Given the description of an element on the screen output the (x, y) to click on. 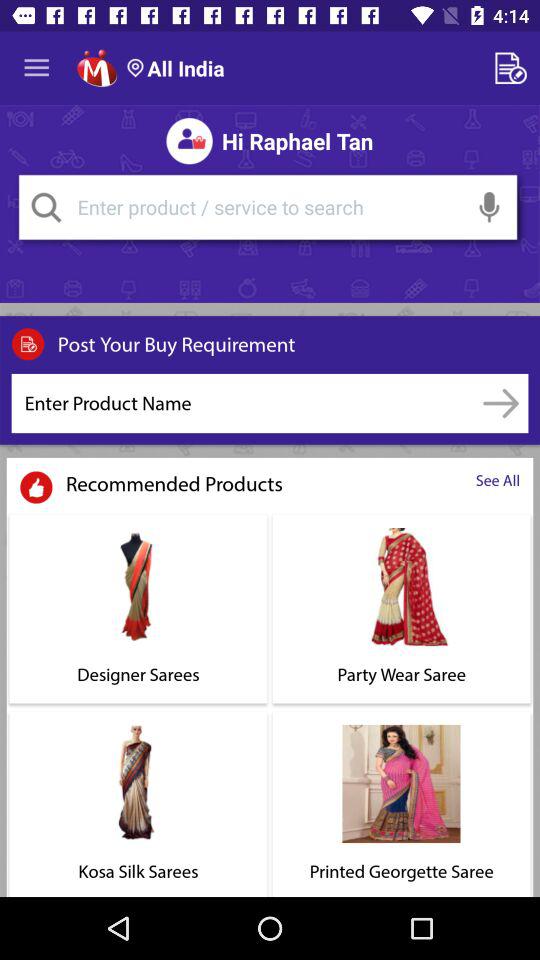
open home page (96, 67)
